Given the description of an element on the screen output the (x, y) to click on. 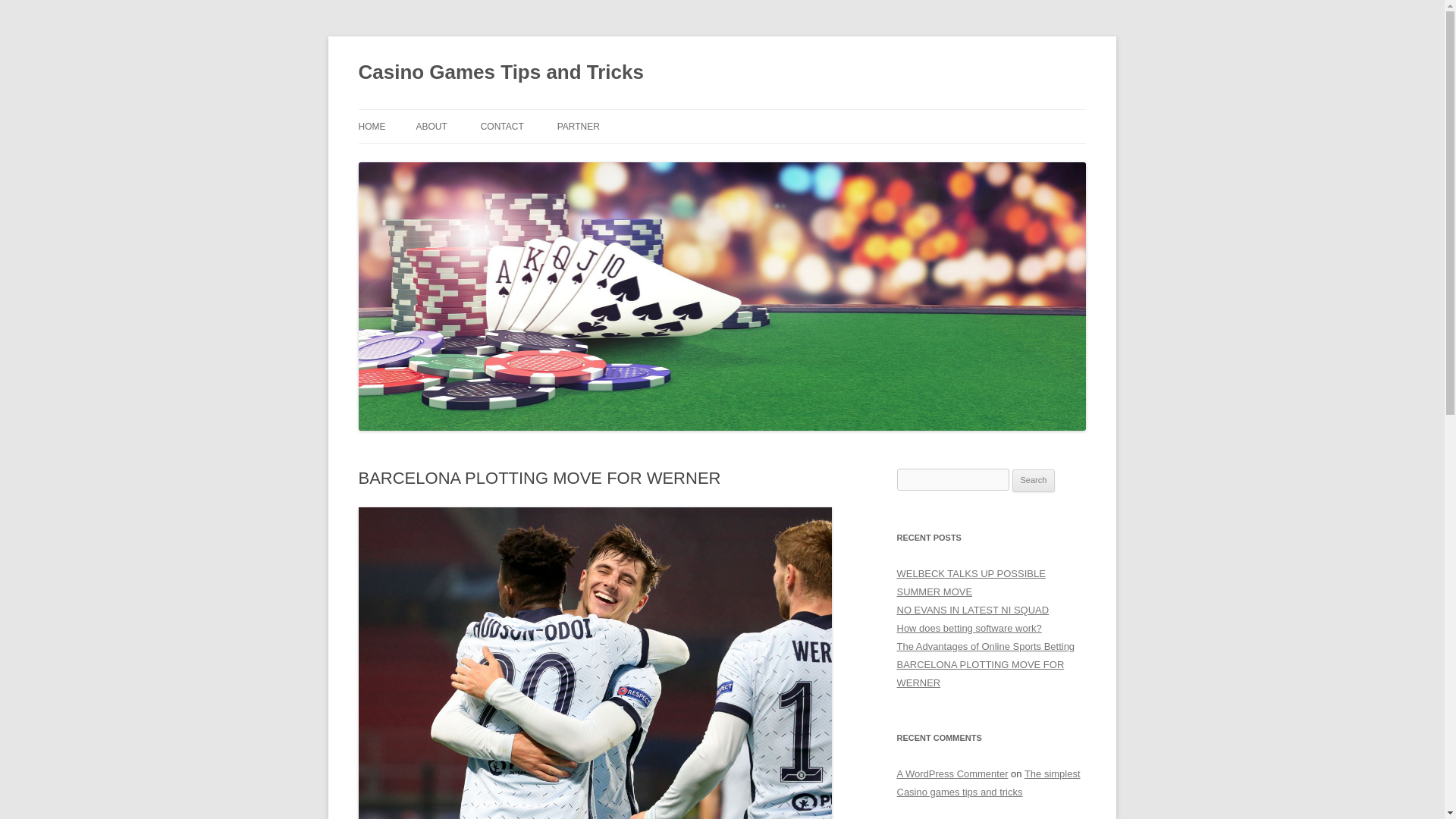
BARCELONA PLOTTING MOVE FOR WERNER (980, 673)
NO EVANS IN LATEST NI SQUAD (972, 609)
The simplest Casino games tips and tricks (988, 782)
A WordPress Commenter (951, 773)
The Advantages of Online Sports Betting (985, 645)
PARTNER (578, 126)
CONTACT (502, 126)
WELBECK TALKS UP POSSIBLE SUMMER MOVE (970, 582)
Search (1033, 480)
Search (1033, 480)
ABOUT (430, 126)
How does betting software work? (968, 627)
Casino Games Tips and Tricks (500, 72)
